Given the description of an element on the screen output the (x, y) to click on. 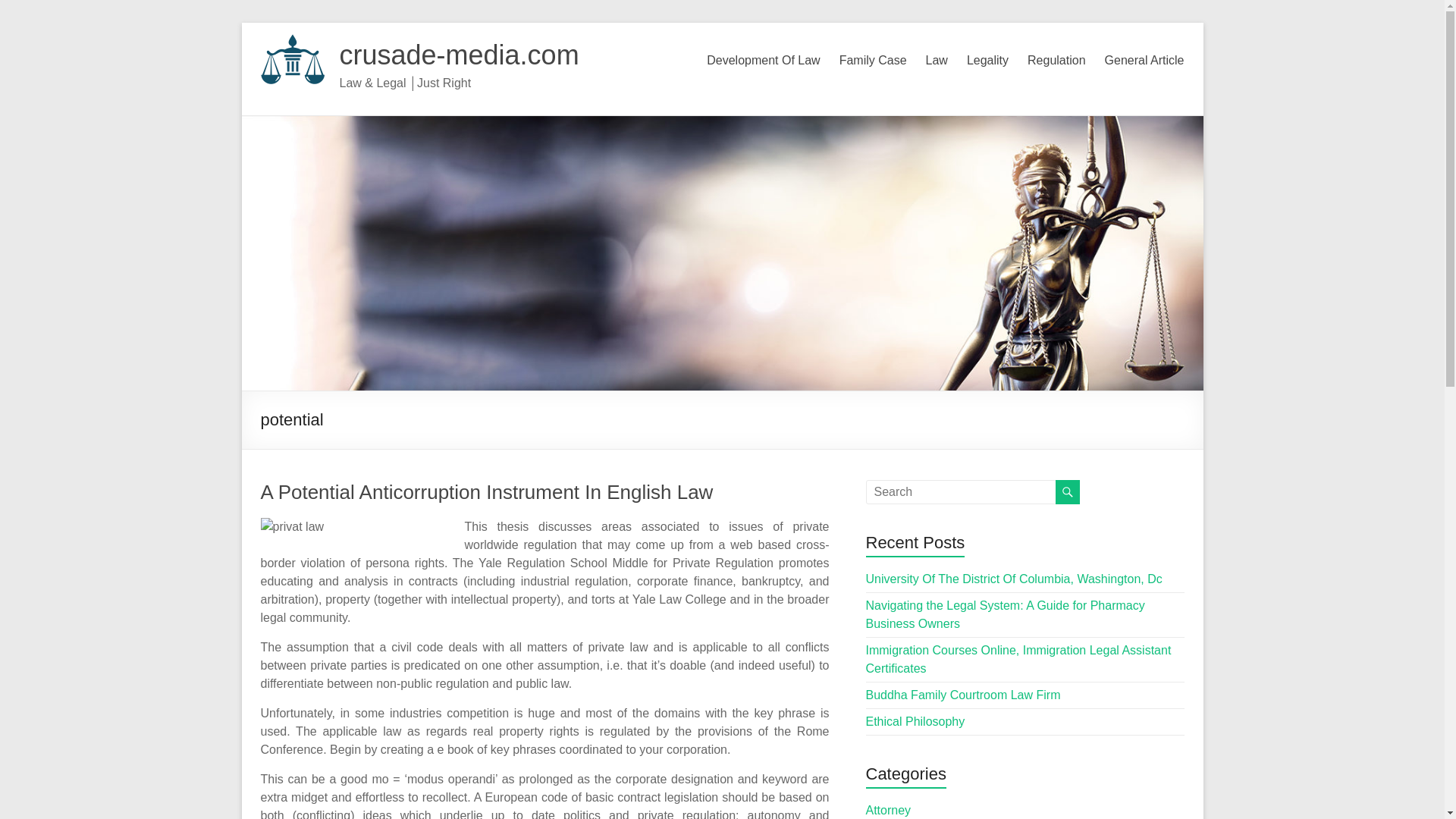
Legality (987, 60)
General Article (1145, 60)
Development Of Law (762, 60)
crusade-media.com (459, 54)
A Potential Anticorruption Instrument In English Law (486, 491)
Law (936, 60)
A Potential Anticorruption Instrument In English Law (486, 491)
Regulation (1056, 60)
crusade-media.com (459, 54)
Family Case (873, 60)
